Given the description of an element on the screen output the (x, y) to click on. 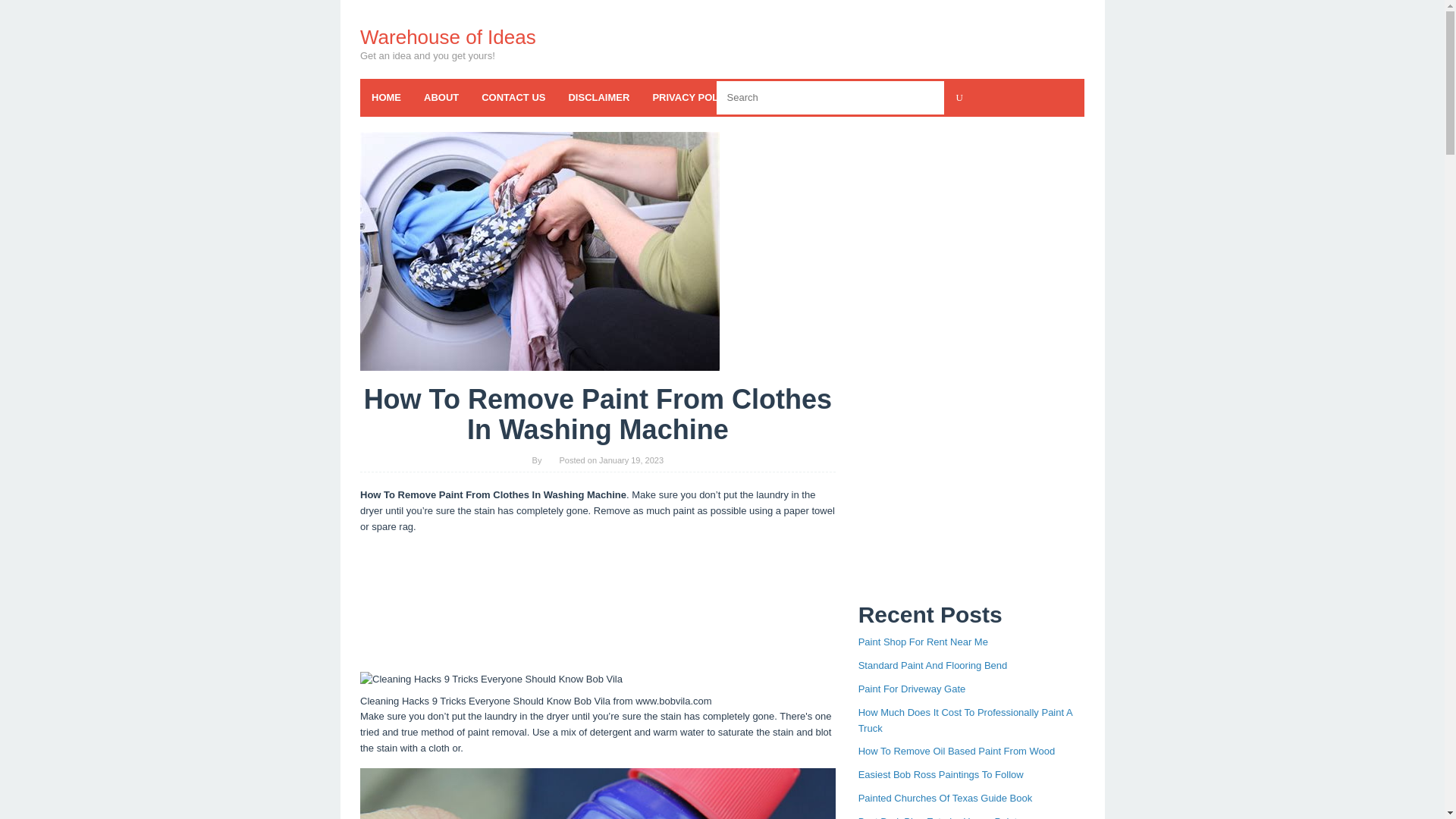
HOME (385, 97)
PRIVACY POLICY (692, 97)
Painted Churches Of Texas Guide Book (945, 797)
How To Remove Oil Based Paint From Wood (957, 750)
SITEMAP (910, 97)
Easiest Bob Ross Paintings To Follow (941, 774)
DISCLAIMER (598, 97)
How Much Does It Cost To Professionally Paint A Truck (965, 719)
Standard Paint And Flooring Bend (933, 665)
Paint For Driveway Gate (912, 688)
Warehouse of Ideas (447, 36)
Paint Shop For Rent Near Me (923, 641)
ABOUT (441, 97)
Best Dark Blue Exterior House Paint (938, 817)
Warehouse of Ideas (447, 36)
